Given the description of an element on the screen output the (x, y) to click on. 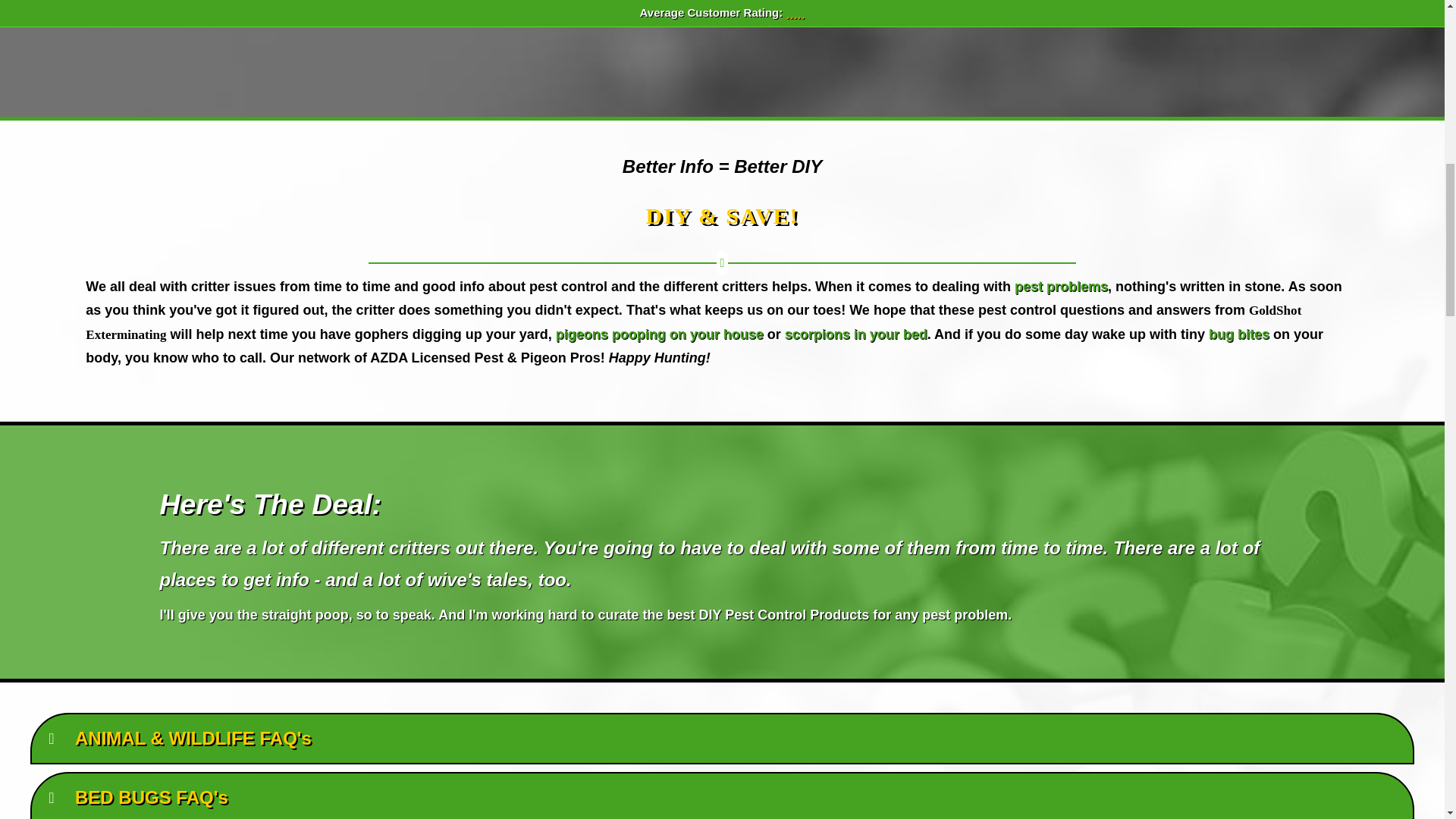
scorpions in your bed (855, 334)
pest problems (1061, 286)
pigeons pooping on your house (659, 334)
